Given the description of an element on the screen output the (x, y) to click on. 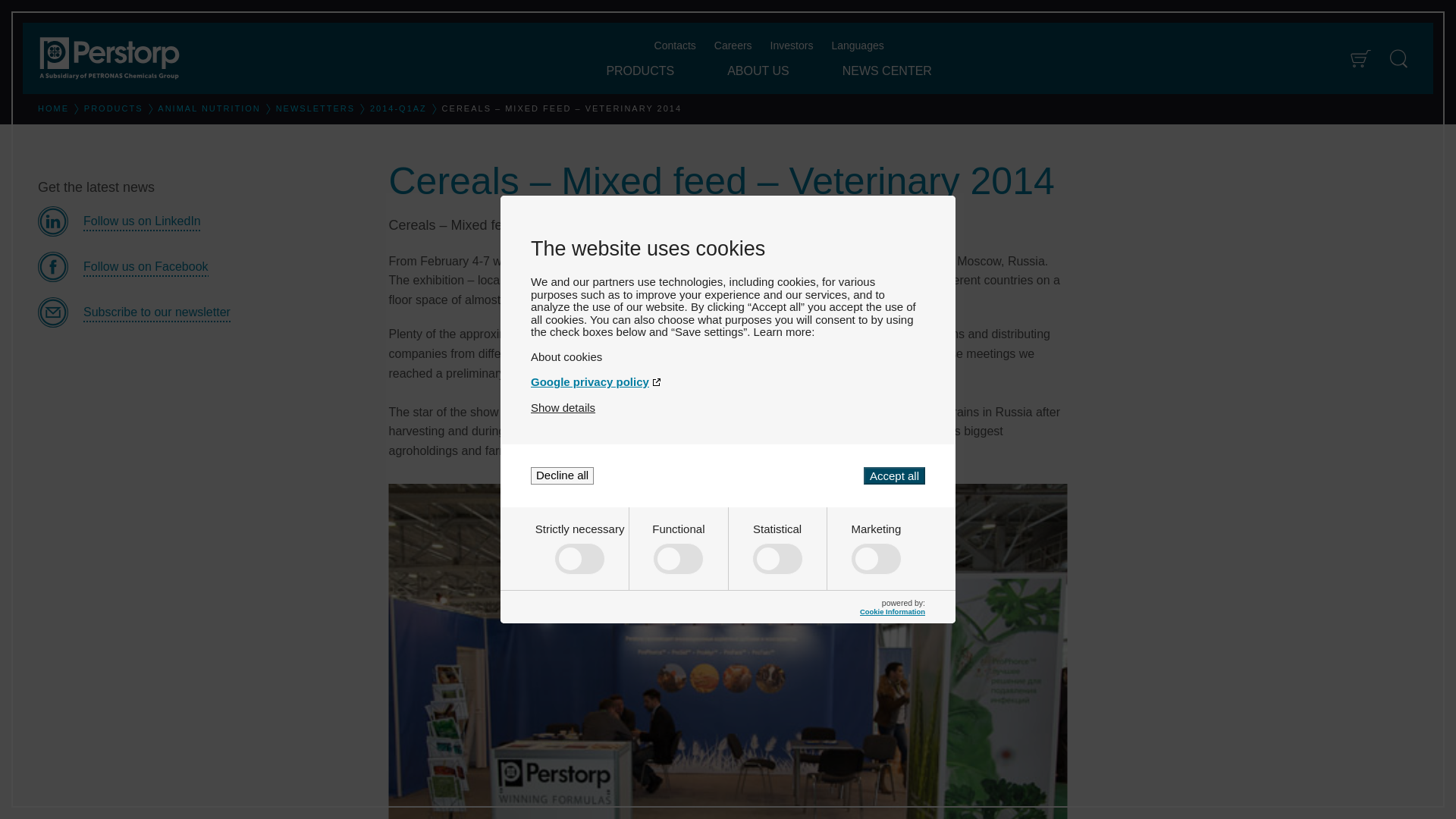
Accept all (893, 475)
LinkedIn (201, 221)
Cookie Information (892, 611)
Facebook (201, 266)
Google privacy policy (727, 381)
Decline all (562, 475)
Show details (563, 407)
About cookies (727, 356)
